Given the description of an element on the screen output the (x, y) to click on. 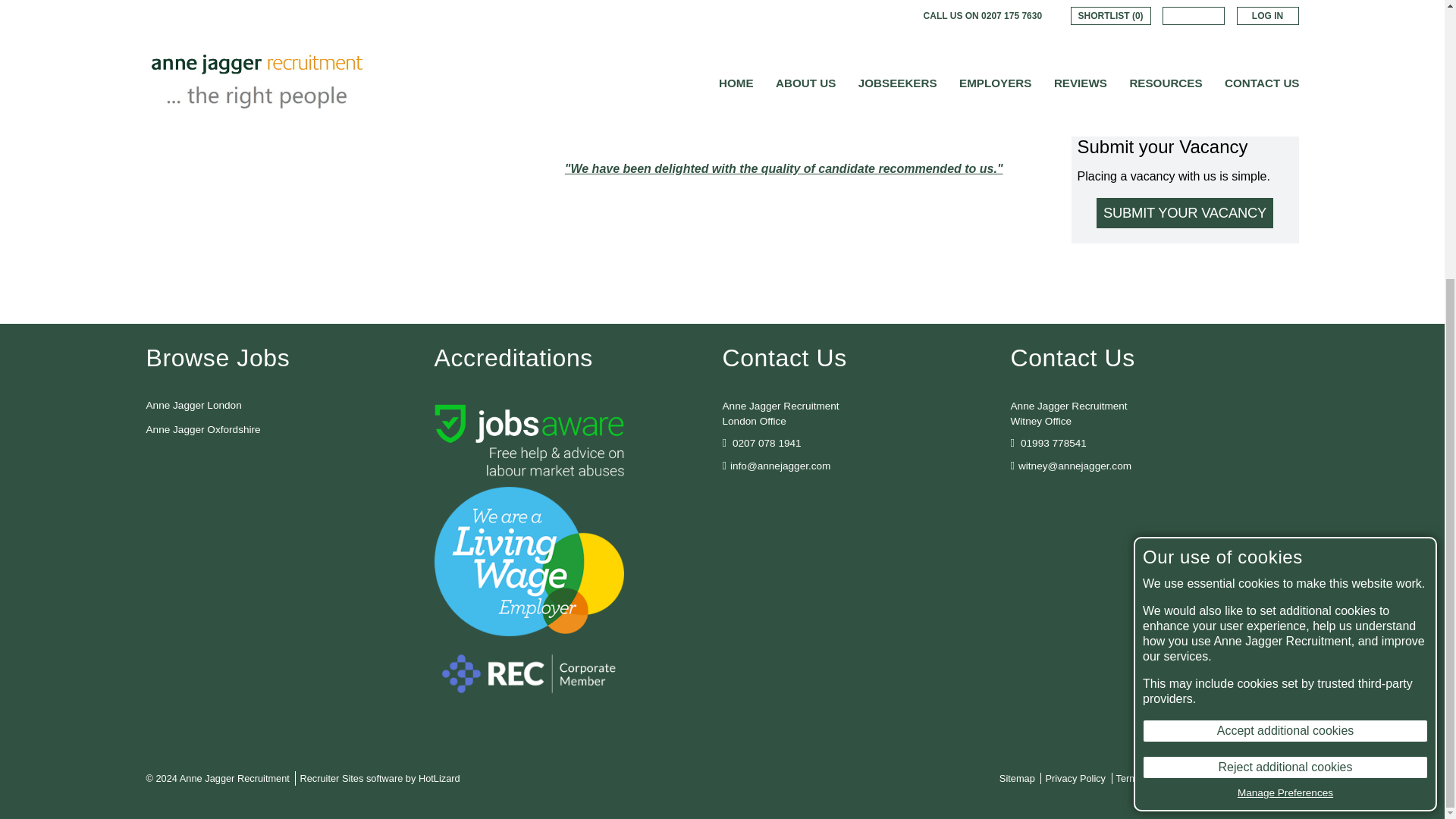
Accept additional cookies (1285, 314)
0207 078 1941 (767, 442)
Anne Jagger London (193, 405)
Anne Jagger Oxfordshire (202, 429)
Anne Jagger Oxfordshire (202, 429)
Manage Preferences (1285, 377)
Follow us on X (796, 496)
Anne Jagger London (193, 405)
SEARCH (1184, 60)
